Given the description of an element on the screen output the (x, y) to click on. 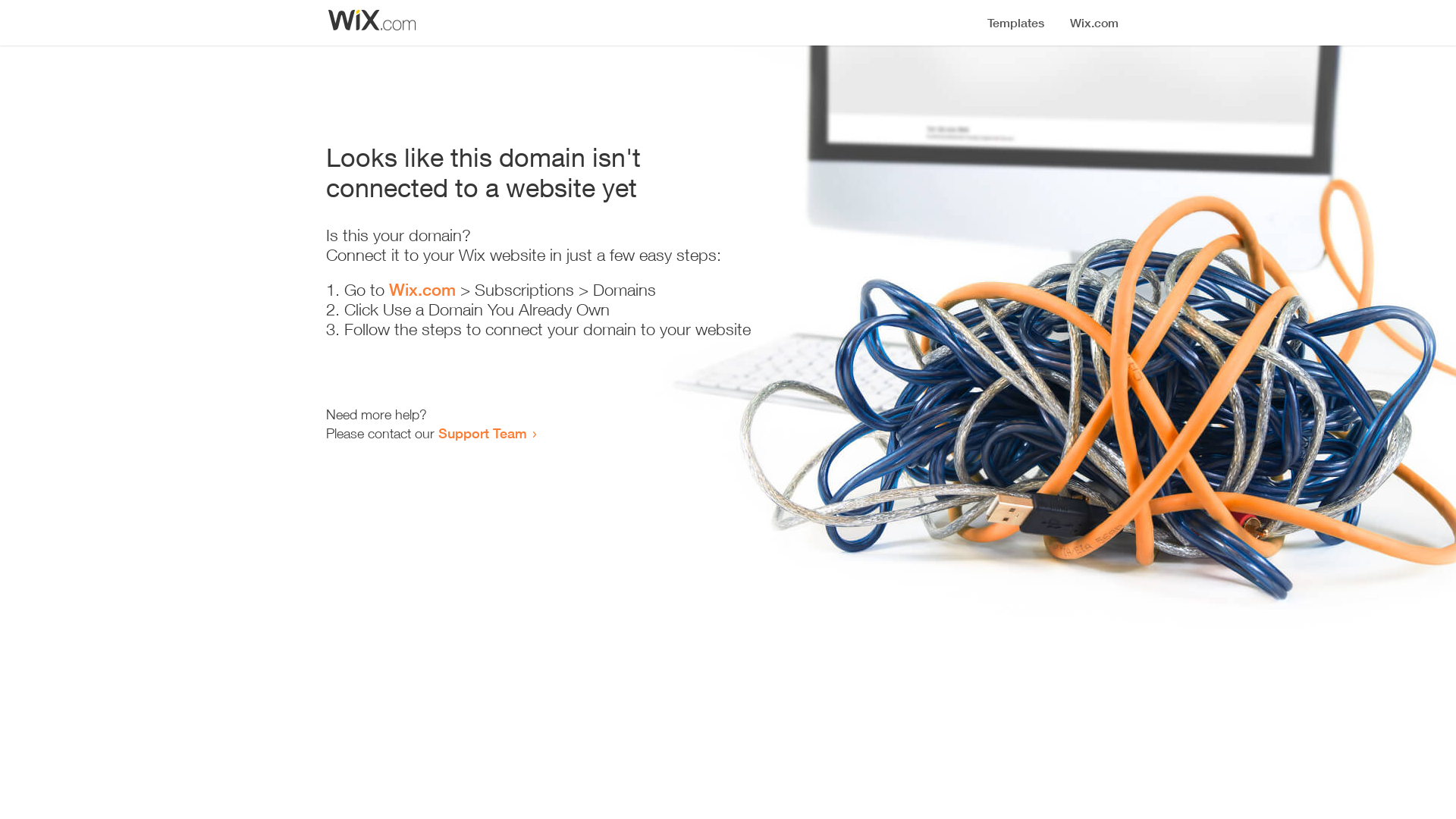
Wix.com Element type: text (422, 289)
Support Team Element type: text (482, 432)
